Given the description of an element on the screen output the (x, y) to click on. 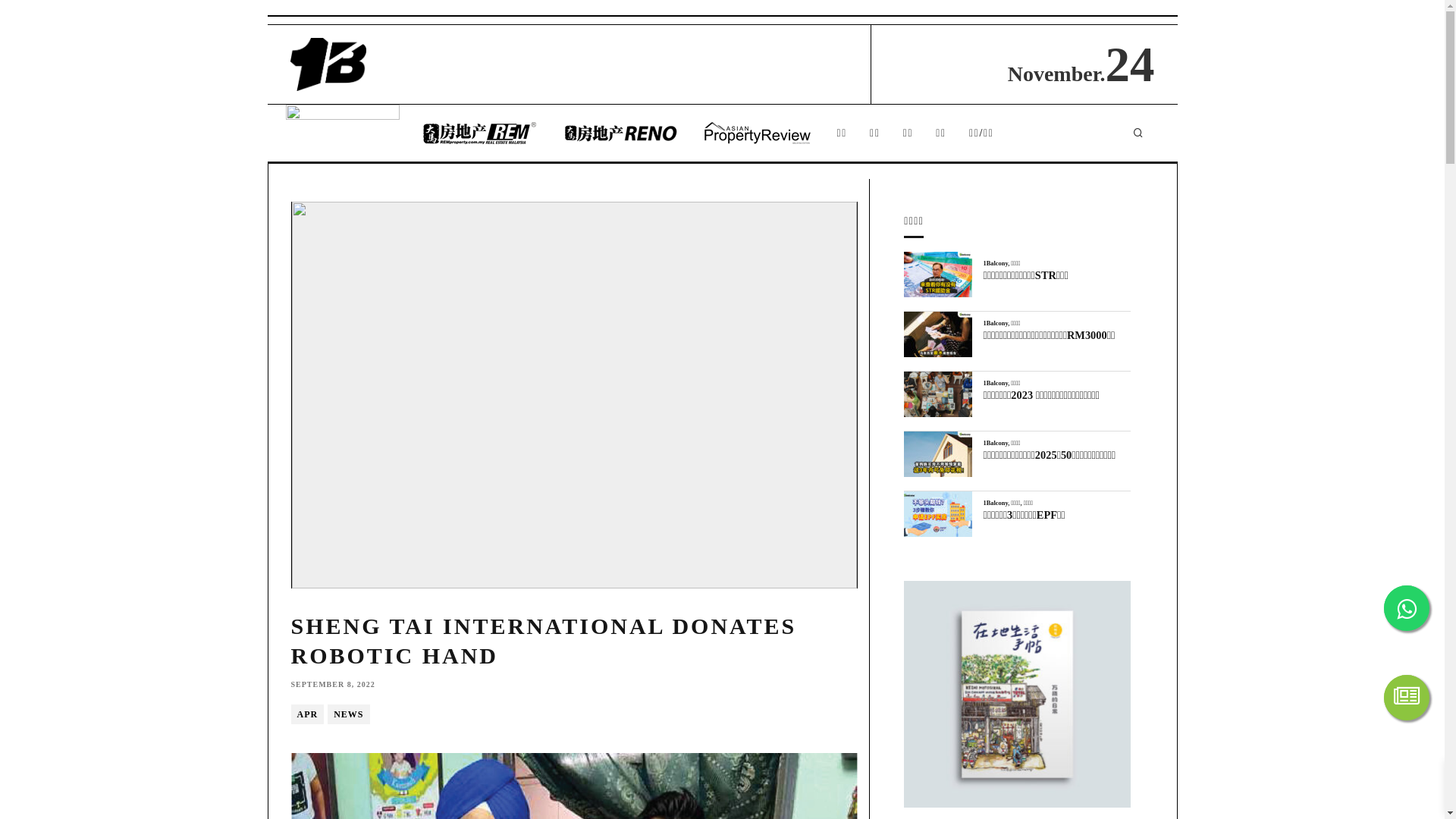
NEWS Element type: text (348, 714)
Log In Element type: text (628, 399)
APR Element type: text (307, 714)
